Given the description of an element on the screen output the (x, y) to click on. 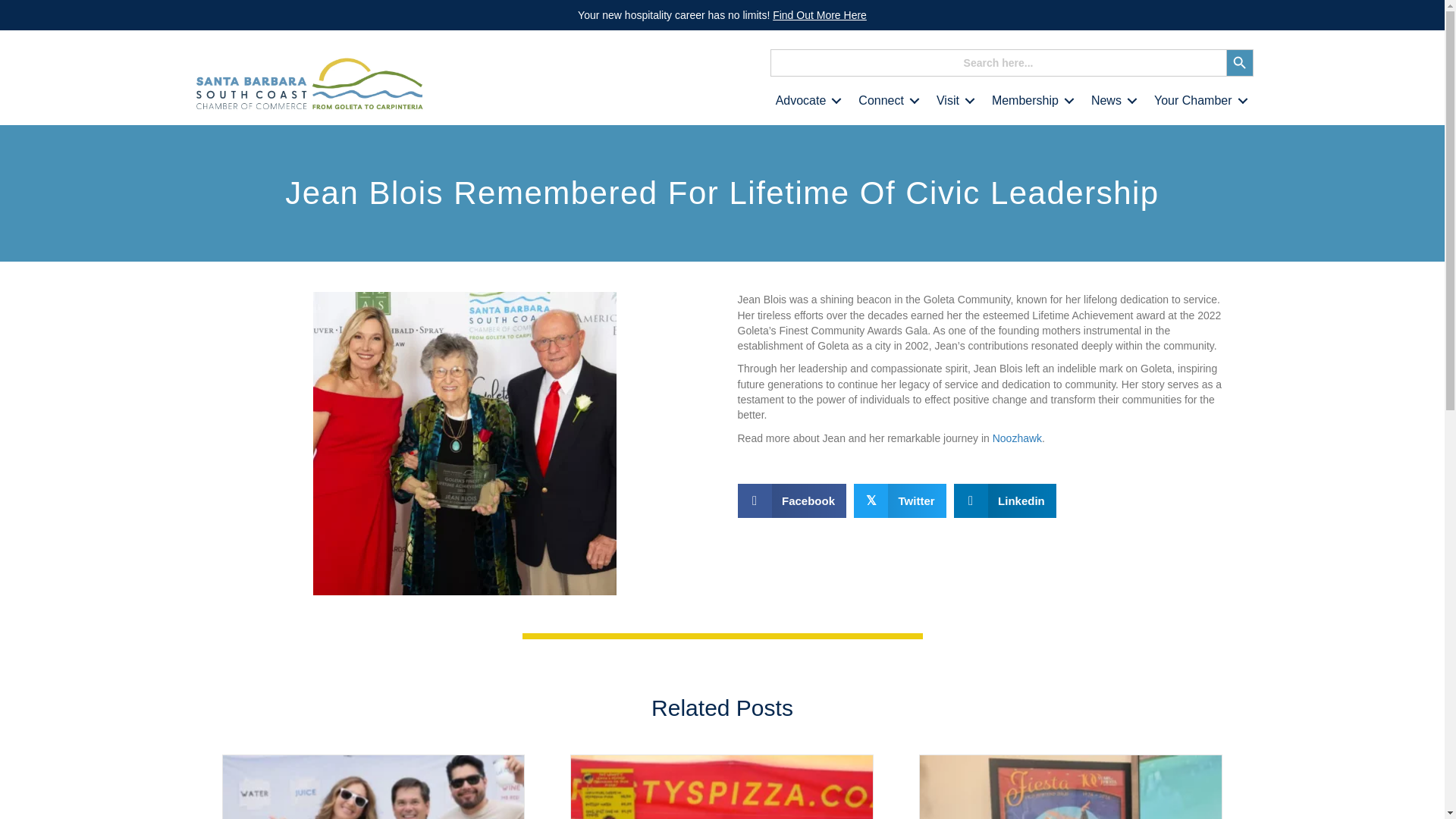
Membership (1030, 100)
Visit (952, 100)
Your Chamber (1197, 100)
Find Out More Here (819, 15)
Search Button (1238, 62)
Advocate (806, 100)
News (1111, 100)
Connect (885, 100)
